Given the description of an element on the screen output the (x, y) to click on. 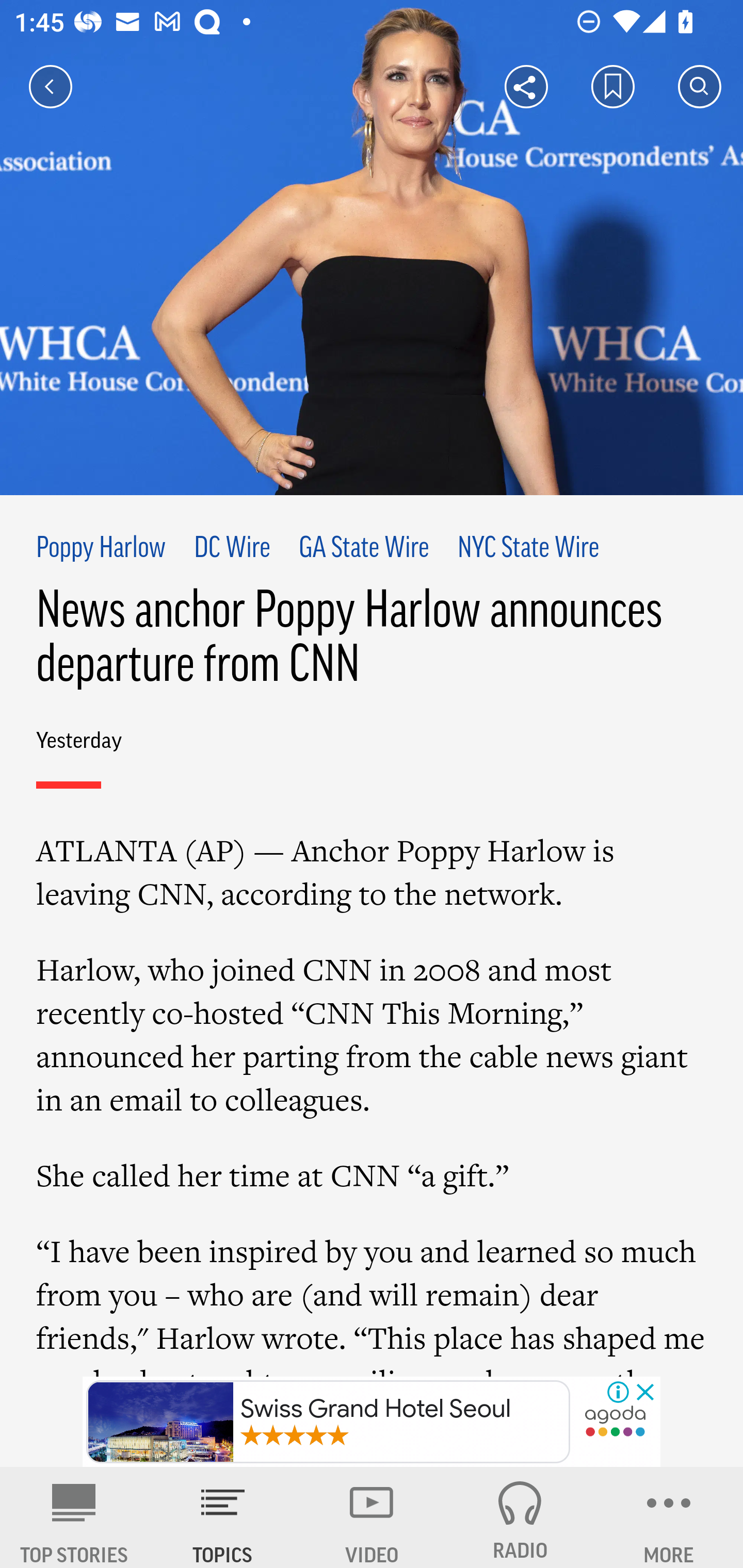
Poppy Harlow (101, 549)
DC Wire (232, 549)
GA State Wire (363, 549)
NYC State Wire (527, 549)
Swiss Grand Hotel Seoul (327, 1421)
partnersearch (615, 1422)
AP News TOP STORIES (74, 1517)
TOPICS (222, 1517)
VIDEO (371, 1517)
RADIO (519, 1517)
MORE (668, 1517)
